Given the description of an element on the screen output the (x, y) to click on. 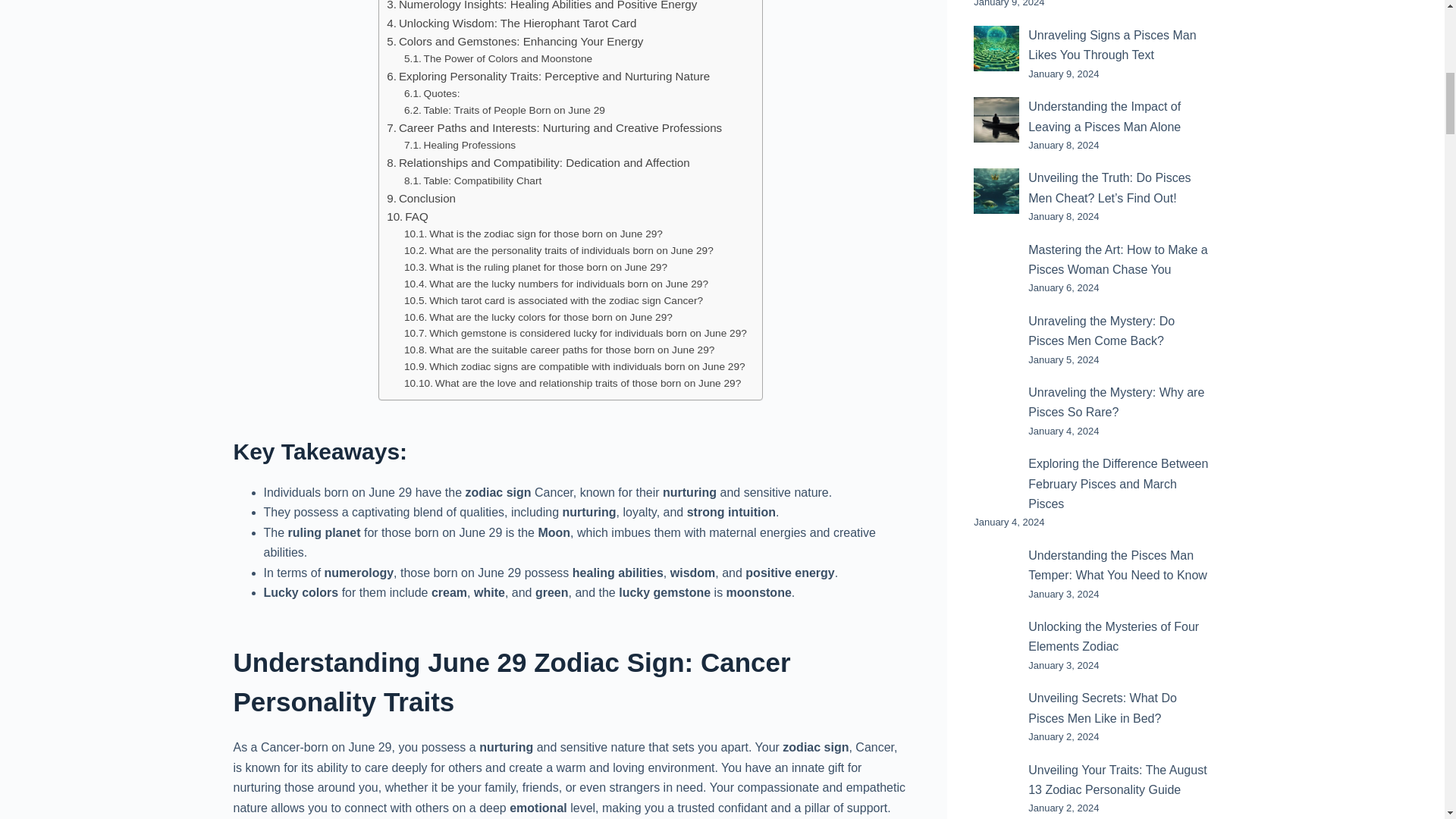
Healing Professions (459, 145)
The Power of Colors and Moonstone (498, 58)
Quotes: (432, 93)
Table: Traits of People Born on June 29 (504, 110)
Unlocking Wisdom: The Hierophant Tarot Card (511, 22)
Relationships and Compatibility: Dedication and Affection (538, 162)
Numerology Insights: Healing Abilities and Positive Energy (542, 6)
Colors and Gemstones: Enhancing Your Energy (515, 41)
